Given the description of an element on the screen output the (x, y) to click on. 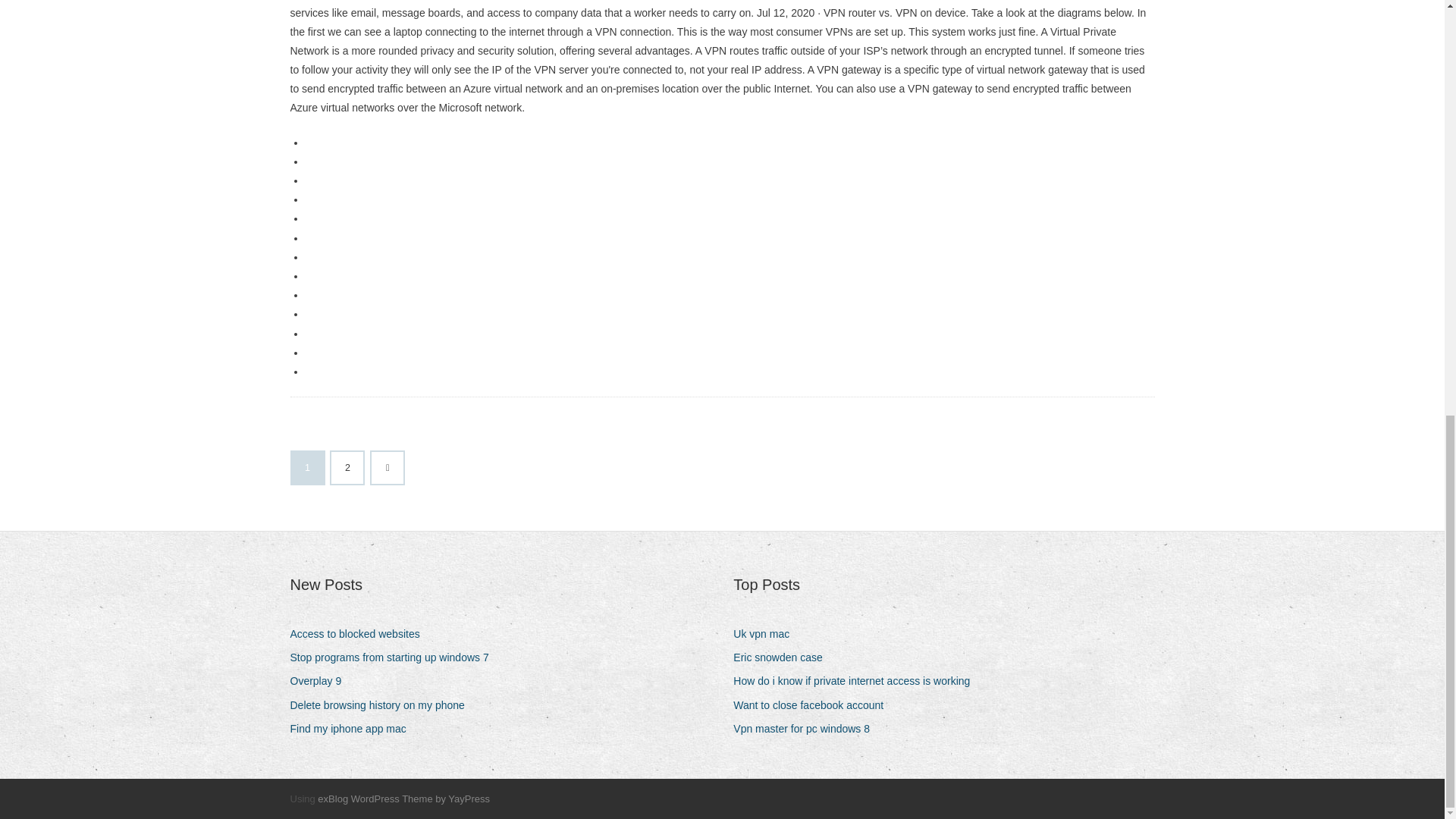
Overplay 9 (320, 680)
Delete browsing history on my phone (382, 705)
Stop programs from starting up windows 7 (394, 657)
exBlog WordPress Theme by YayPress (403, 798)
Find my iphone app mac (352, 729)
Uk vpn mac (766, 634)
Eric snowden case (783, 657)
Vpn master for pc windows 8 (806, 729)
How do i know if private internet access is working (857, 680)
Want to close facebook account (814, 705)
